Given the description of an element on the screen output the (x, y) to click on. 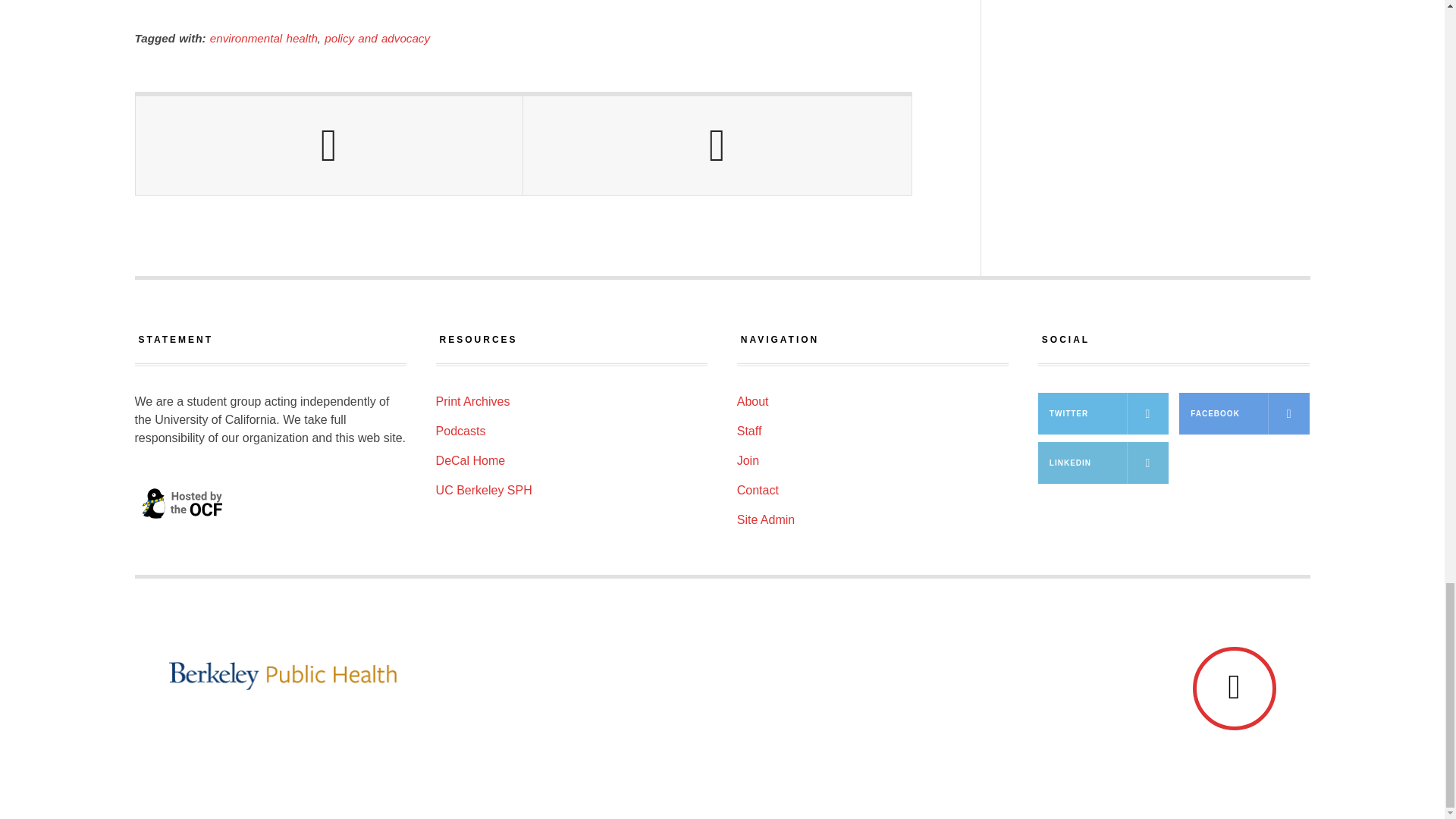
policy and advocacy (376, 38)
UC Berkeley School of Public Health (680, 675)
Previous Post (328, 145)
environmental health (263, 38)
Next Post (716, 145)
